Given the description of an element on the screen output the (x, y) to click on. 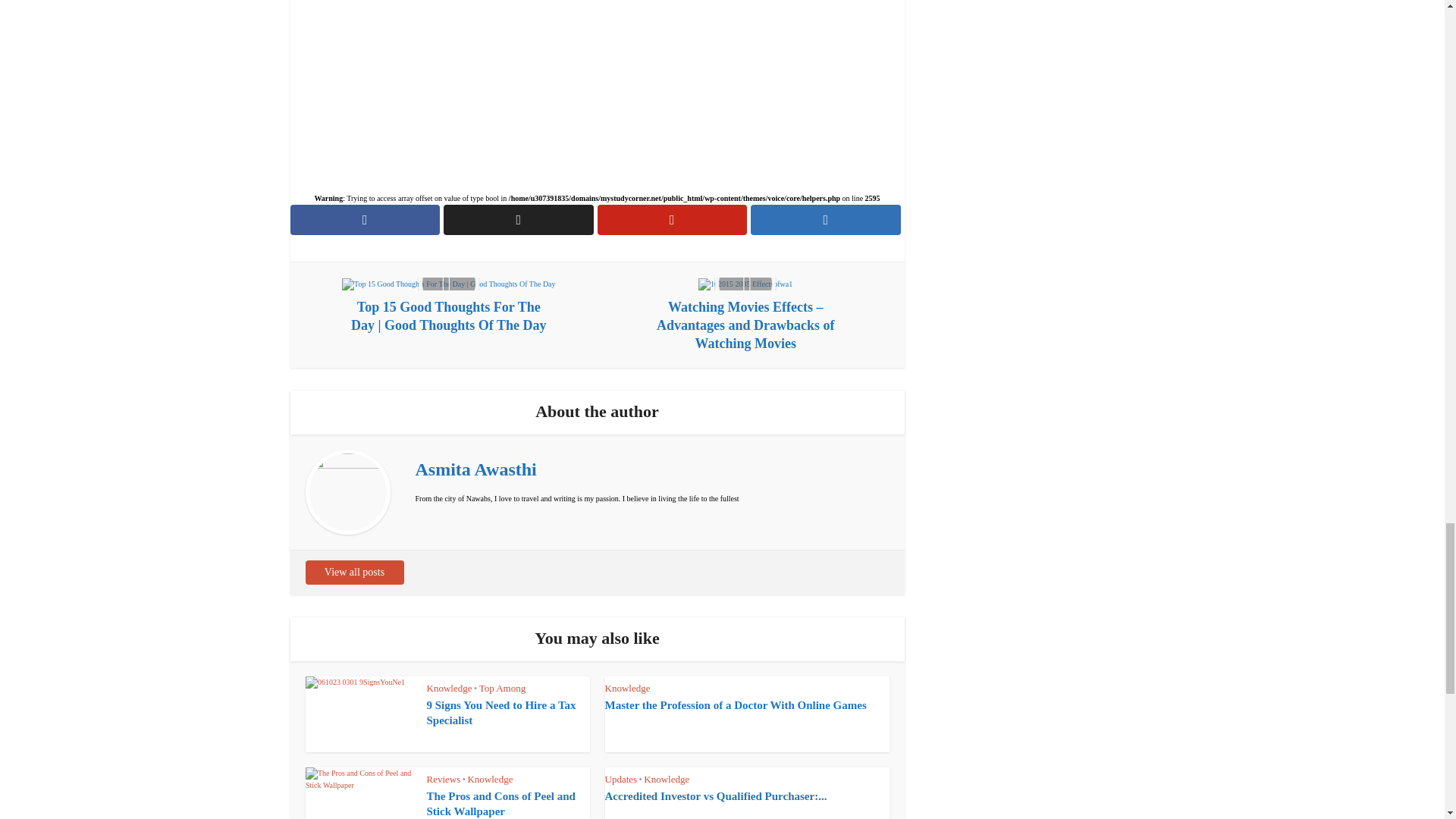
Master the Profession of a Doctor With Online Games (735, 100)
9 Signs You Need to Hire a Tax Specialist 4 (359, 109)
9 Signs You Need to Hire a Tax Specialist (500, 107)
